Given the description of an element on the screen output the (x, y) to click on. 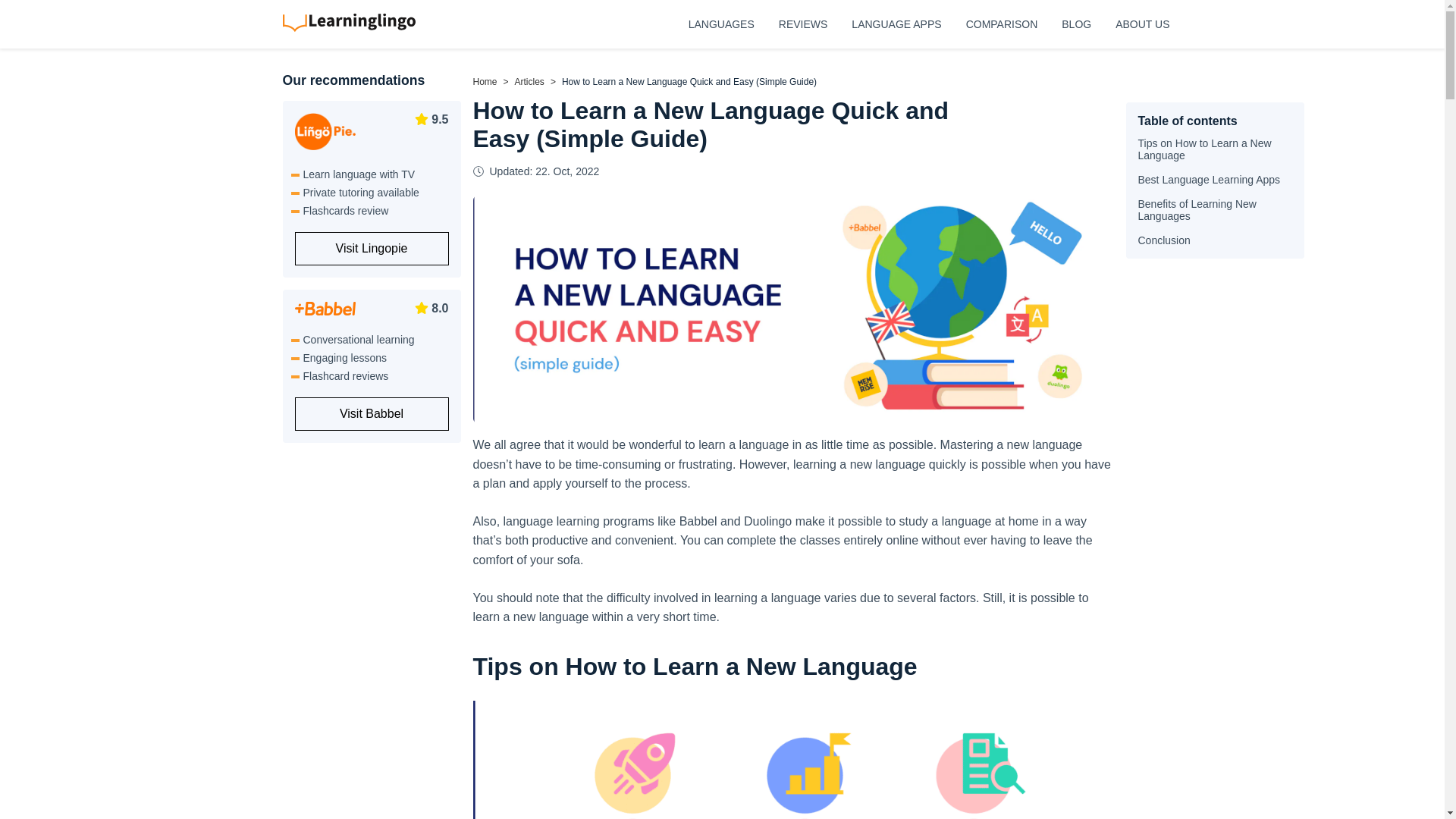
LANGUAGE APPS (895, 24)
LANGUAGES (721, 24)
BLOG (1075, 24)
COMPARISON (1002, 24)
Best Language Learning Apps (1208, 179)
Visit Lingopie (371, 248)
Home (485, 81)
Visit Babbel (371, 413)
ABOUT US (1142, 24)
Benefits of Learning New Languages (1196, 209)
Conclusion (1163, 240)
REVIEWS (803, 24)
Articles (529, 81)
Tips on How to Learn a New Language (1204, 149)
